Given the description of an element on the screen output the (x, y) to click on. 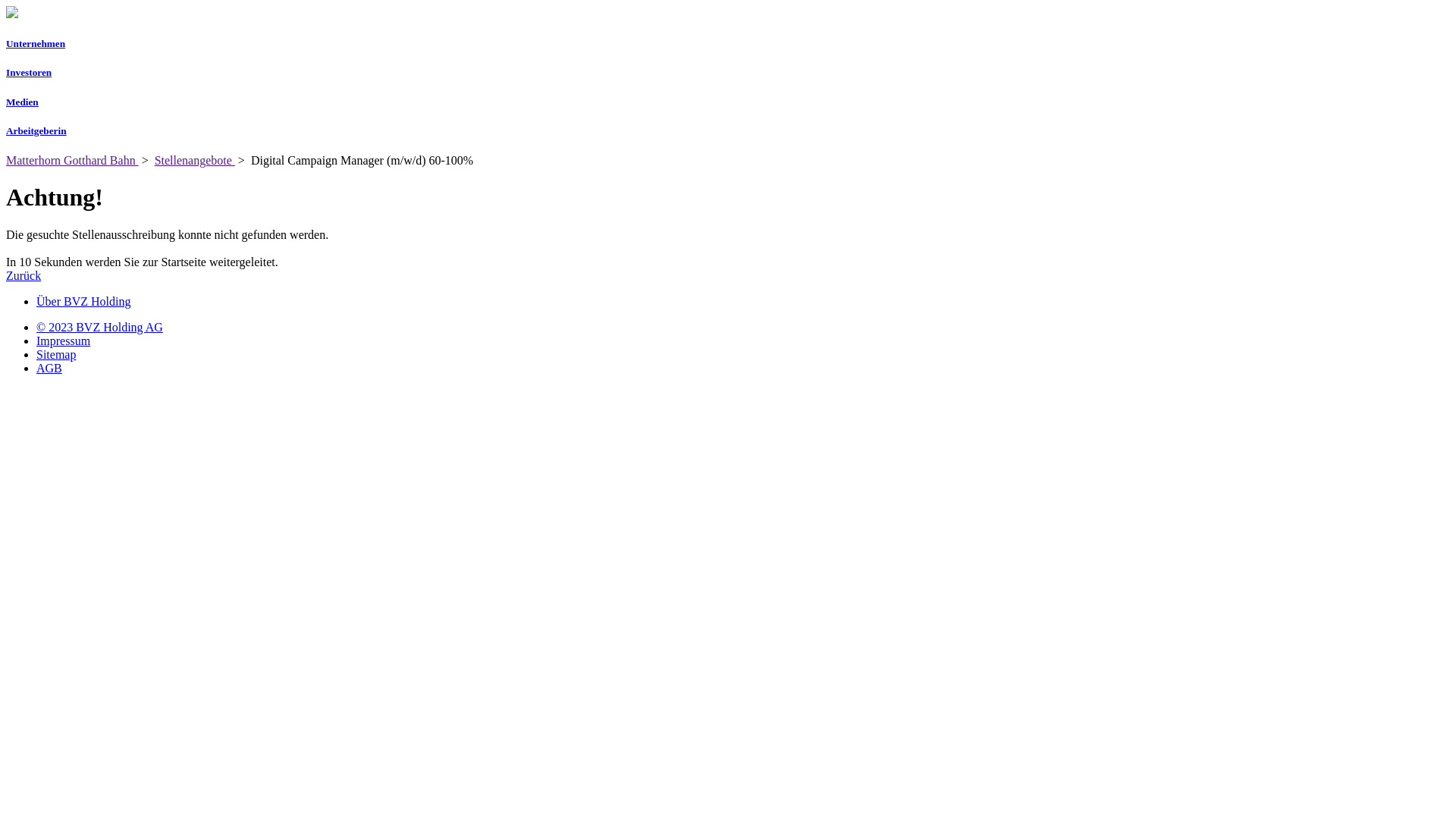
Medien Element type: text (727, 102)
Impressum Element type: text (63, 340)
Sitemap Element type: text (55, 354)
Stellenangebote Element type: text (194, 159)
Arbeitgeberin Element type: text (727, 131)
Unternehmen Element type: text (727, 43)
AGB Element type: text (49, 367)
Matterhorn Gotthard Bahn Element type: text (72, 159)
Investoren Element type: text (727, 72)
